Given the description of an element on the screen output the (x, y) to click on. 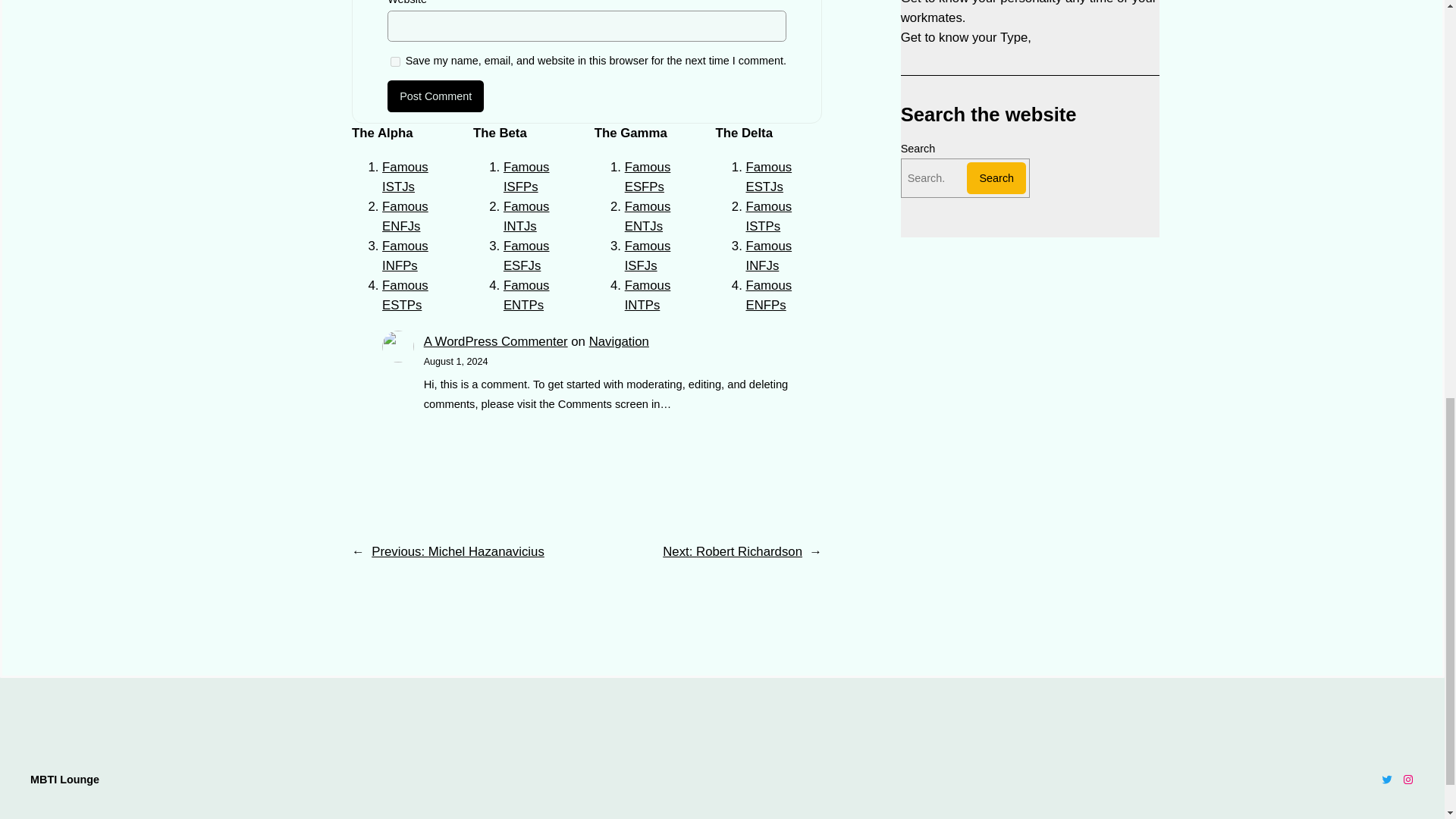
Famous INFJs (768, 255)
Famous ISFPs (526, 176)
A WordPress Commenter (495, 341)
Famous ISFJs (647, 255)
Navigation (619, 341)
Famous ENTJs (647, 216)
Previous: Michel Hazanavicius (457, 551)
Famous ENTPs (526, 295)
Twitter (1386, 779)
Next: Robert Richardson (732, 551)
Instagram (1407, 779)
Famous ESFJs (526, 255)
Search (996, 178)
Famous ISTPs (768, 216)
Post Comment (435, 96)
